Given the description of an element on the screen output the (x, y) to click on. 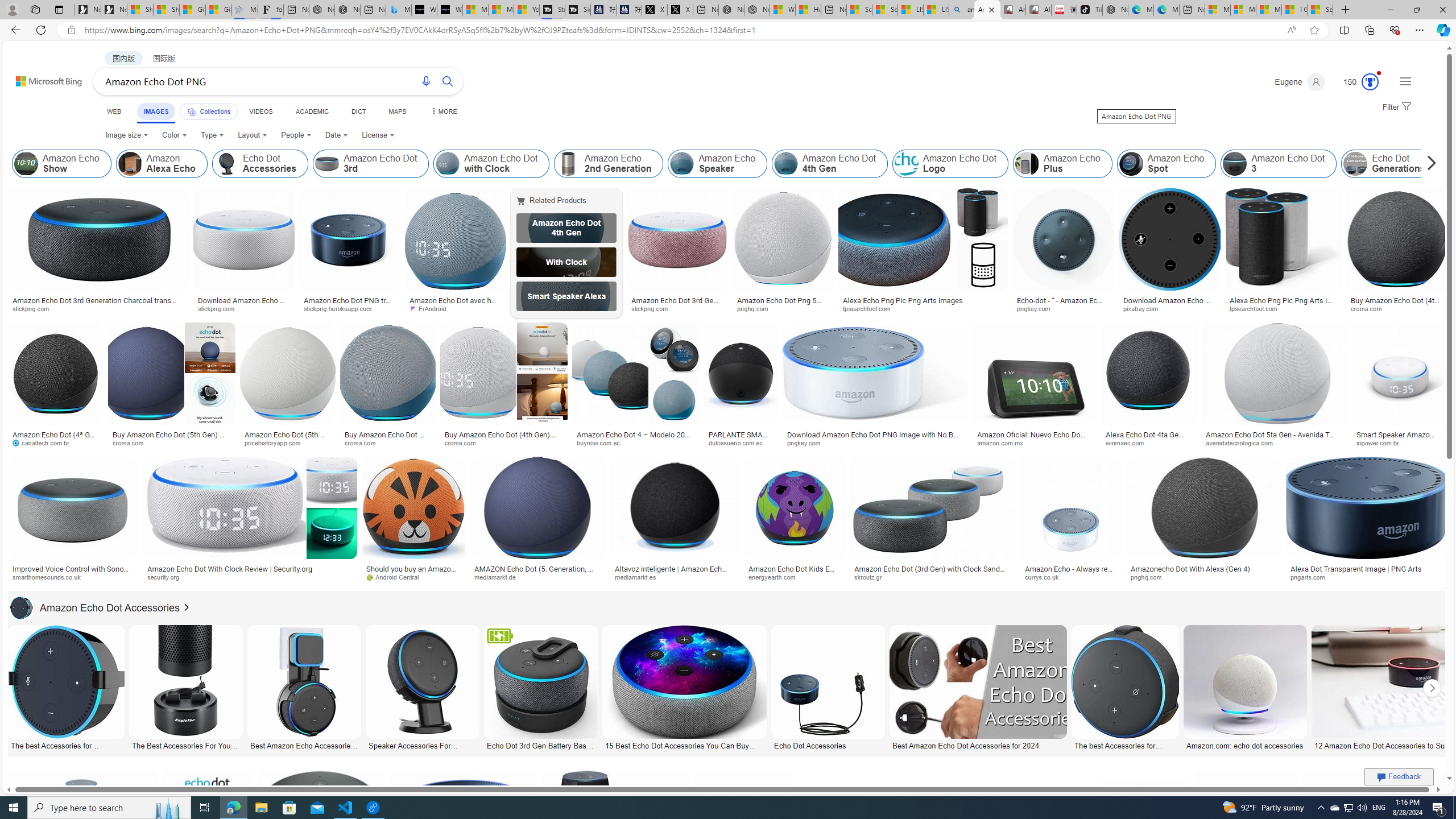
Amazon Echo Speaker (681, 163)
Search button (447, 80)
Amazon Echo Dot 4th Gen (565, 227)
Click to scroll right (1431, 687)
pricehistoryapp.com (276, 442)
